Given the description of an element on the screen output the (x, y) to click on. 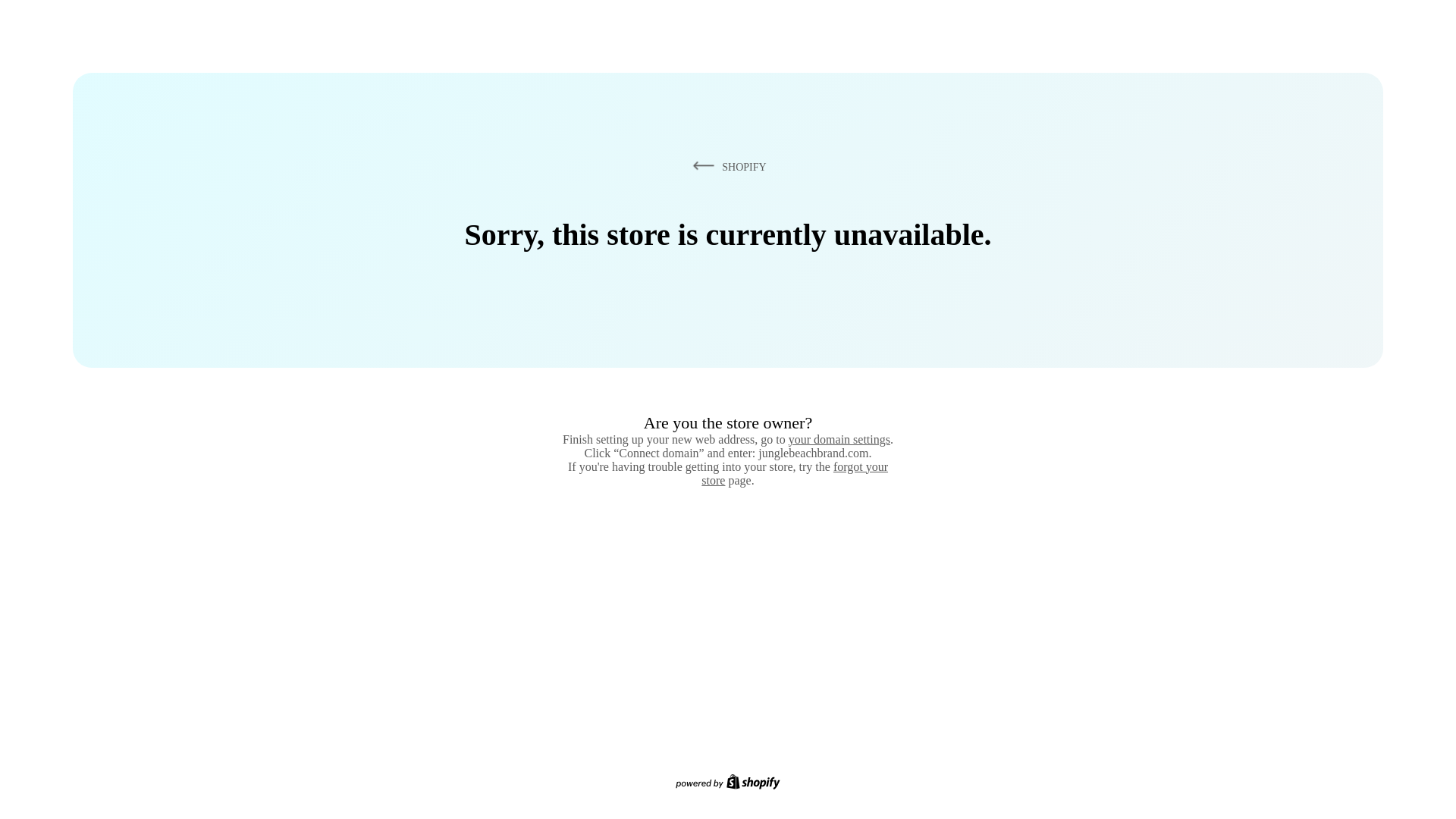
SHOPIFY (726, 166)
your domain settings (839, 439)
forgot your store (794, 473)
